Given the description of an element on the screen output the (x, y) to click on. 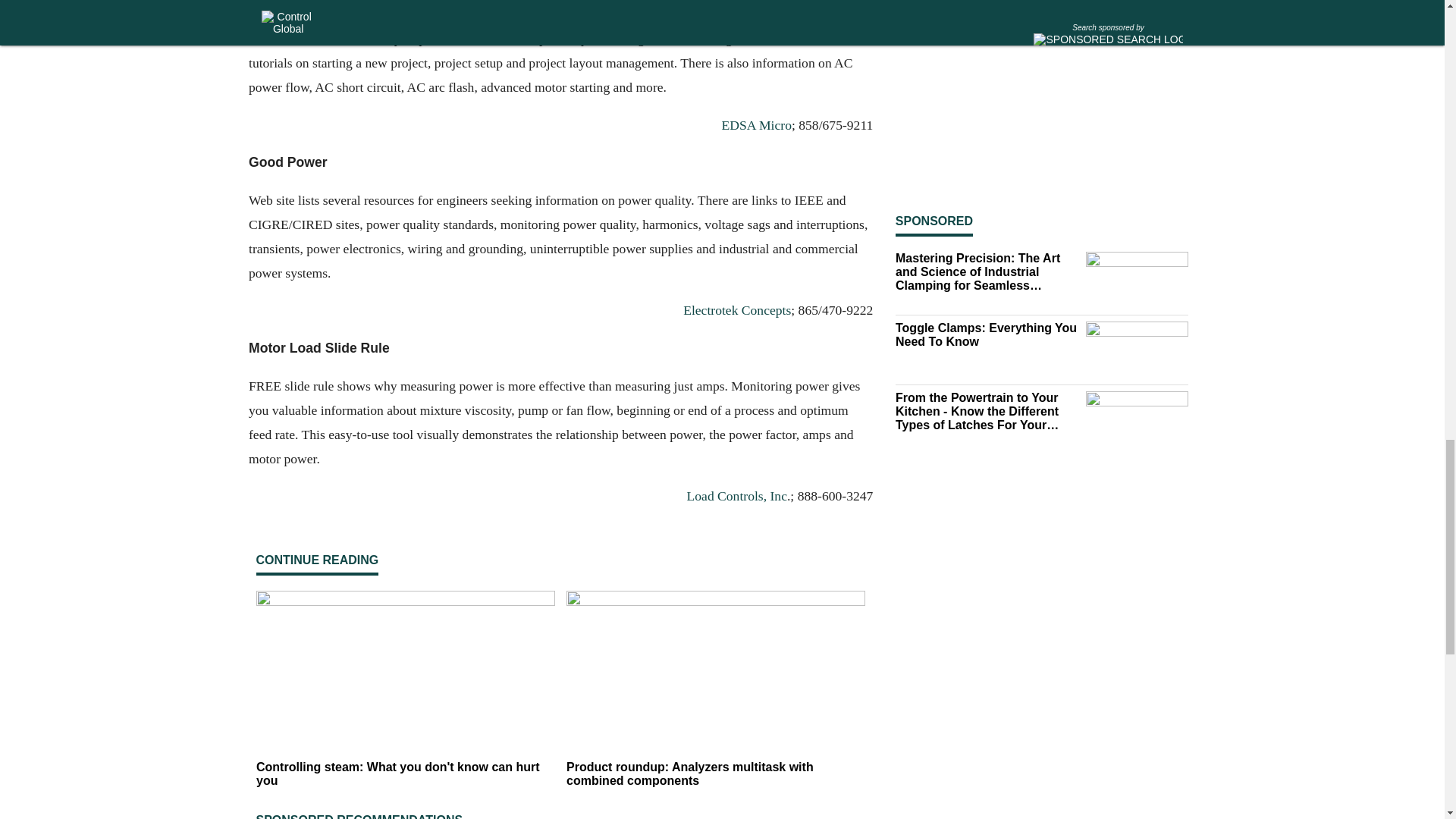
Load Controls, Inc (735, 496)
Electrotek Concepts (736, 310)
Controlling steam: What you don't know can hurt you (405, 773)
EDSA Micro (755, 124)
